Given the description of an element on the screen output the (x, y) to click on. 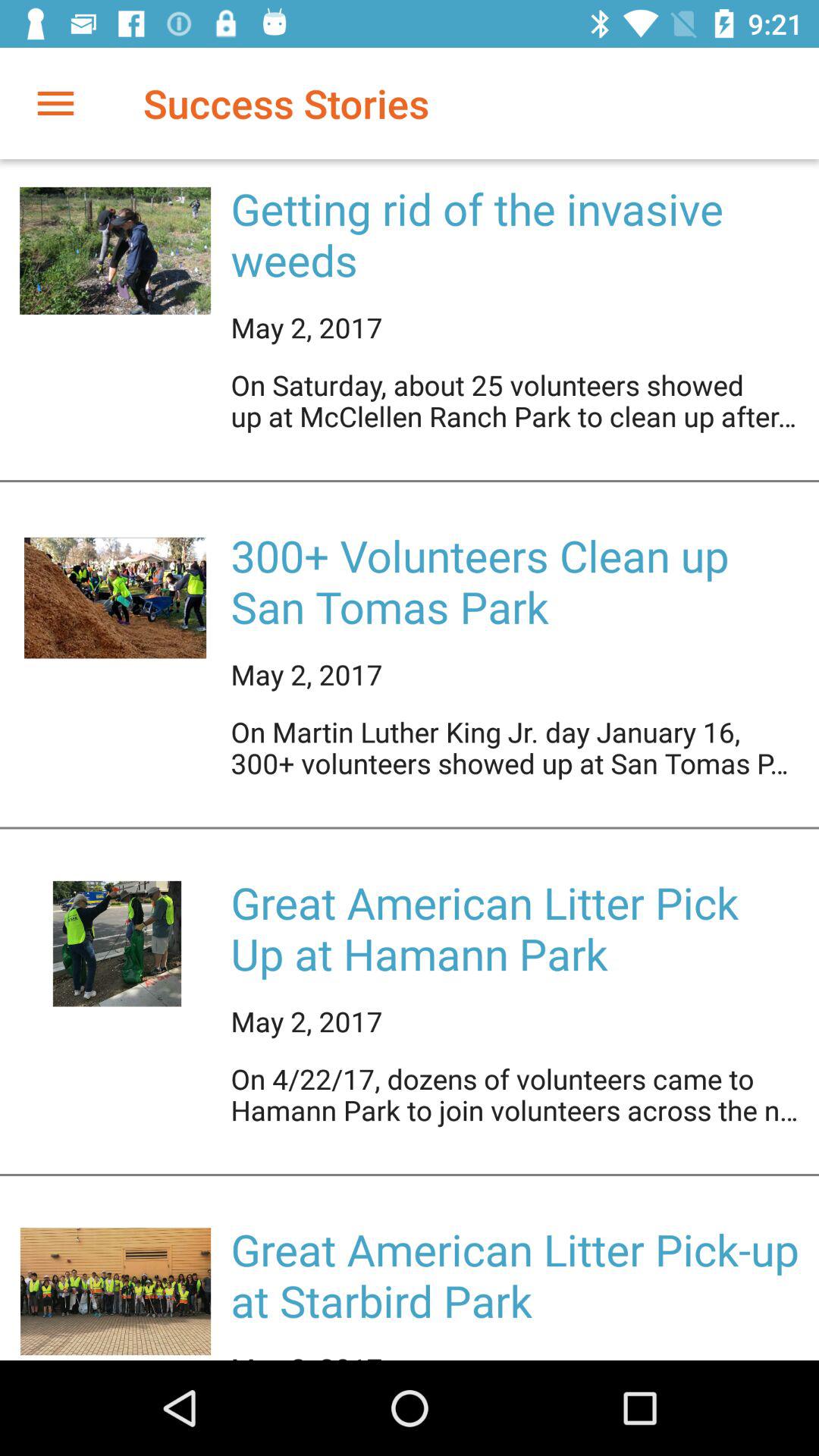
more options (55, 103)
